Given the description of an element on the screen output the (x, y) to click on. 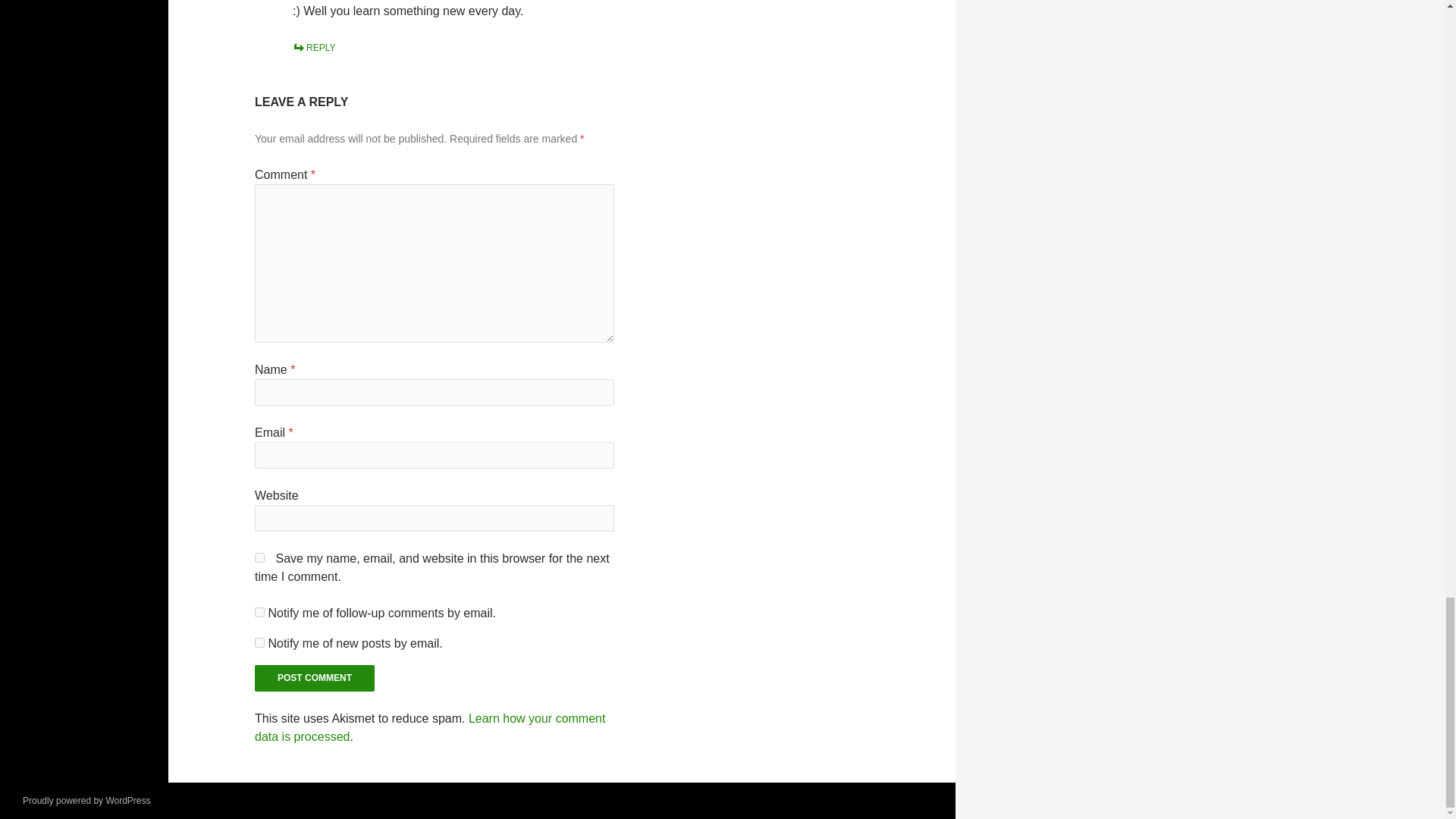
subscribe (259, 642)
yes (259, 557)
Post Comment (314, 678)
REPLY (313, 47)
Learn how your comment data is processed (429, 726)
subscribe (259, 612)
Post Comment (314, 678)
